Given the description of an element on the screen output the (x, y) to click on. 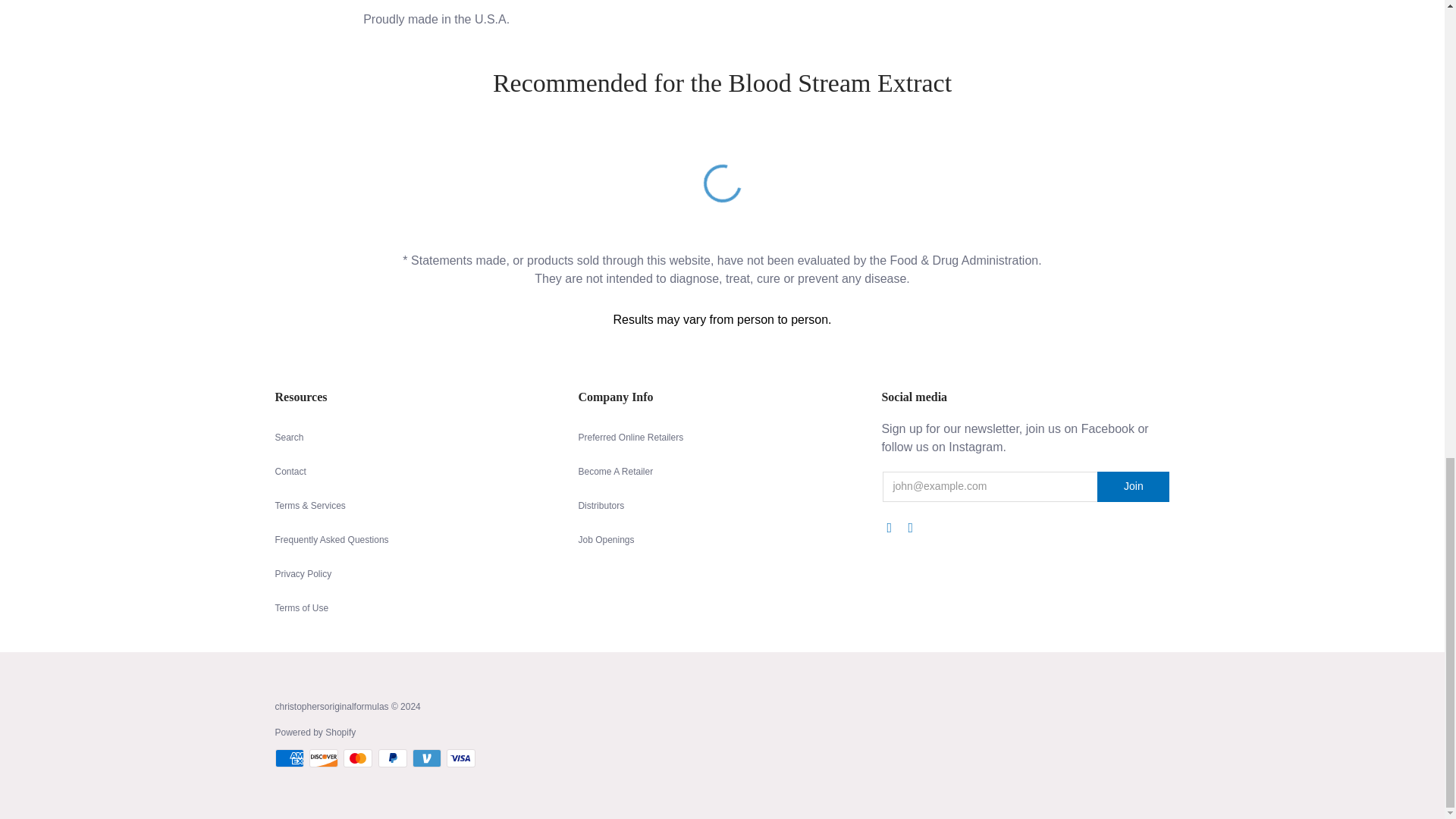
Visa (461, 758)
American Express (288, 758)
Venmo (426, 758)
Discover (322, 758)
PayPal (392, 758)
Join (1133, 486)
Mastercard (357, 758)
